Given the description of an element on the screen output the (x, y) to click on. 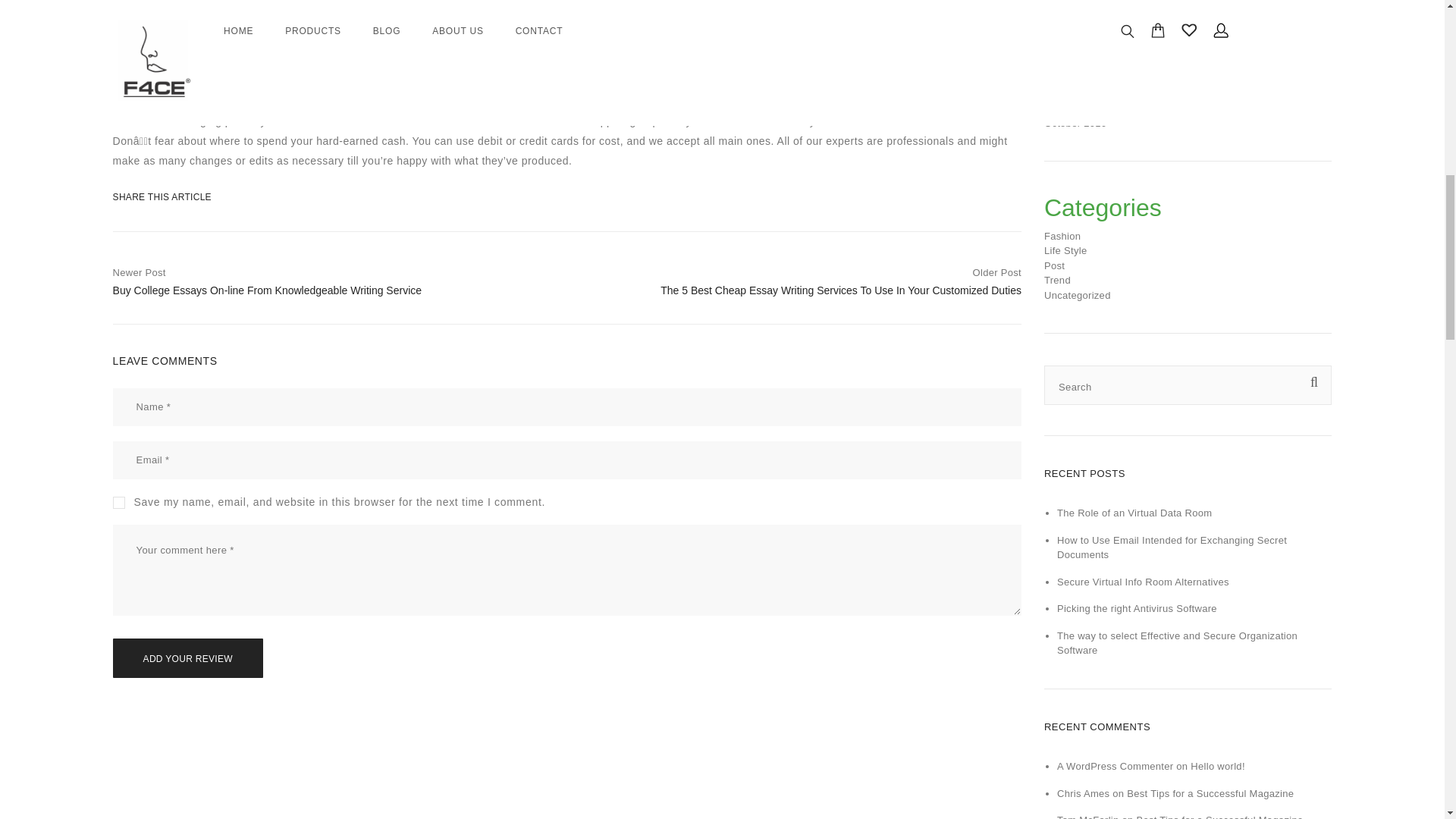
SHARE THIS ARTICLE (150, 196)
Add your Review (188, 658)
Add your Review (188, 658)
